Given the description of an element on the screen output the (x, y) to click on. 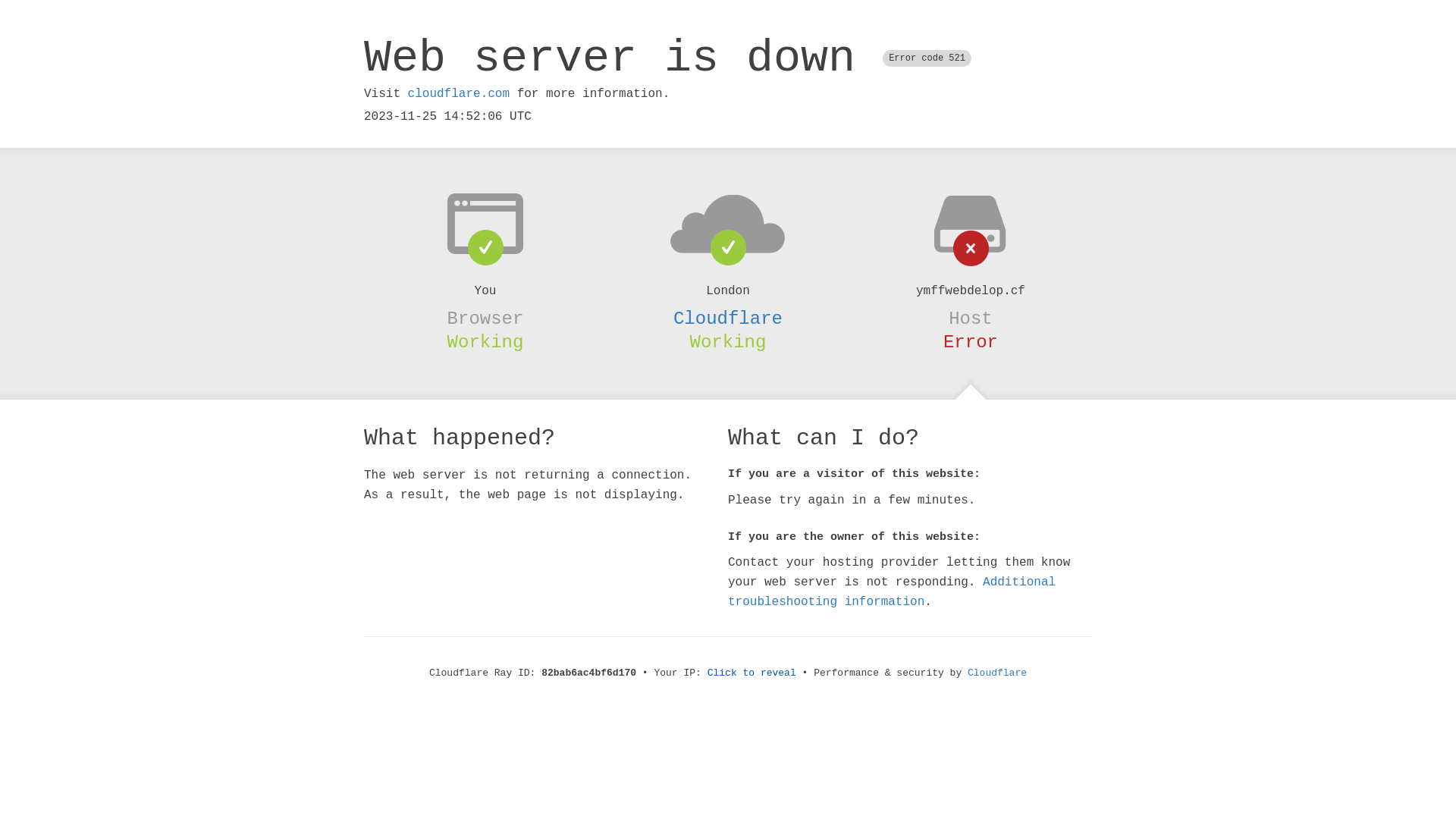
cloudflare.com Element type: text (458, 93)
Additional troubleshooting information Element type: text (891, 591)
Click to reveal Element type: text (751, 672)
Cloudflare Element type: text (727, 318)
Cloudflare Element type: text (996, 672)
